Given the description of an element on the screen output the (x, y) to click on. 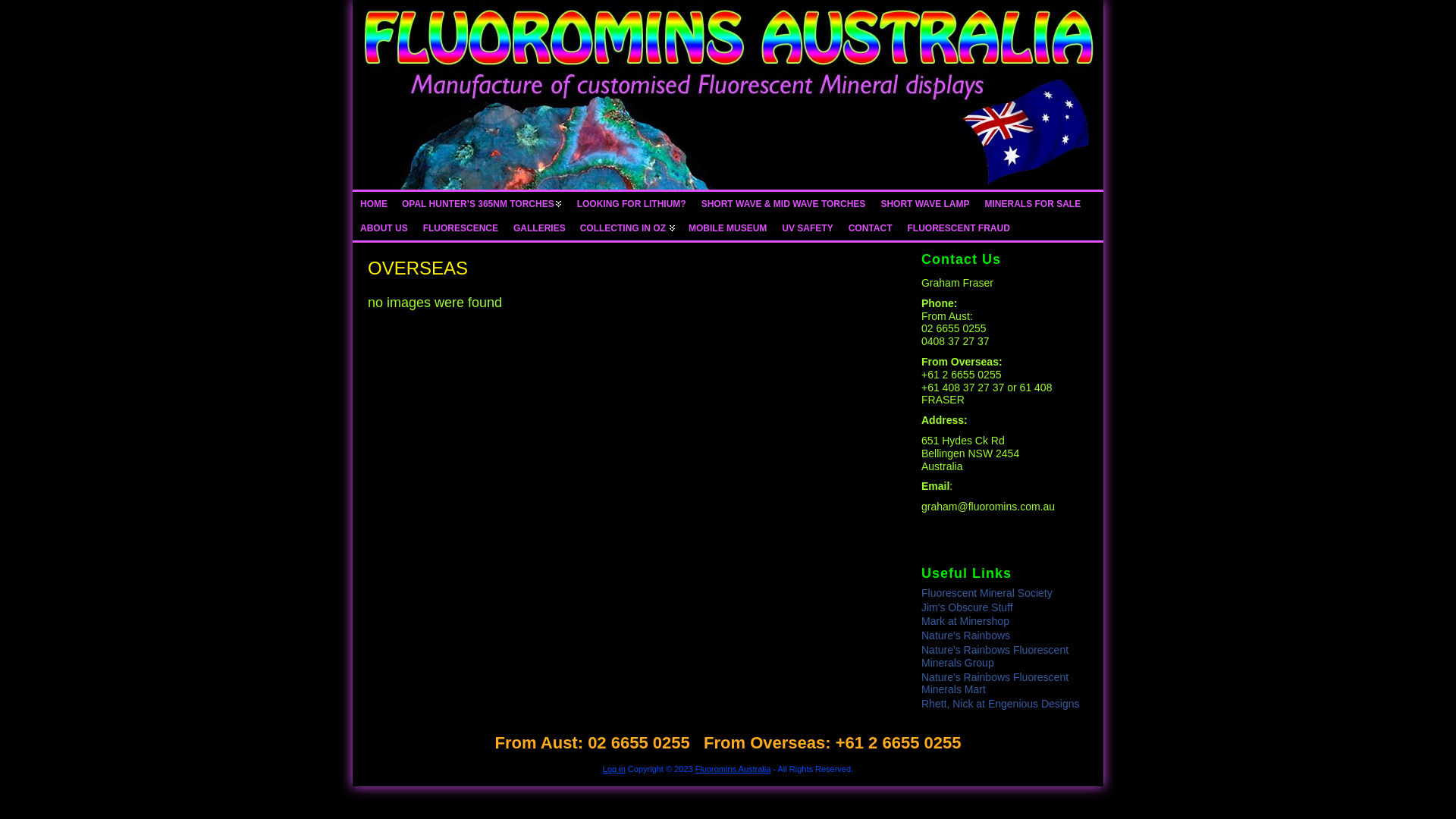
Jim's Obscure Stuff Element type: text (967, 607)
MINERALS FOR SALE Element type: text (1032, 203)
COLLECTING IN OZ Element type: text (626, 228)
CONTACT Element type: text (870, 228)
FLUORESCENCE Element type: text (460, 228)
Fluoromins Australia Element type: text (733, 768)
ABOUT US Element type: text (383, 228)
Rhett, Nick at Engenious Designs Element type: text (1000, 703)
HOME Element type: text (373, 203)
Nature's Rainbows Fluorescent Minerals Mart Element type: text (994, 683)
FLUORESCENT FRAUD Element type: text (957, 228)
GALLERIES Element type: text (539, 228)
LOOKING FOR LITHIUM? Element type: text (631, 203)
Log in Element type: text (613, 768)
Mark at Minershop Element type: text (965, 621)
  Element type: text (727, 94)
MOBILE MUSEUM Element type: text (727, 228)
Nature's Rainbows Fluorescent Minerals Group Element type: text (994, 655)
SHORT WAVE LAMP Element type: text (924, 203)
SHORT WAVE & MID WAVE TORCHES Element type: text (783, 203)
Fluoromins Australia Element type: hover (727, 94)
Nature's Rainbows Element type: text (965, 635)
UV SAFETY Element type: text (807, 228)
Fluorescent Mineral Society Element type: text (986, 592)
